Given the description of an element on the screen output the (x, y) to click on. 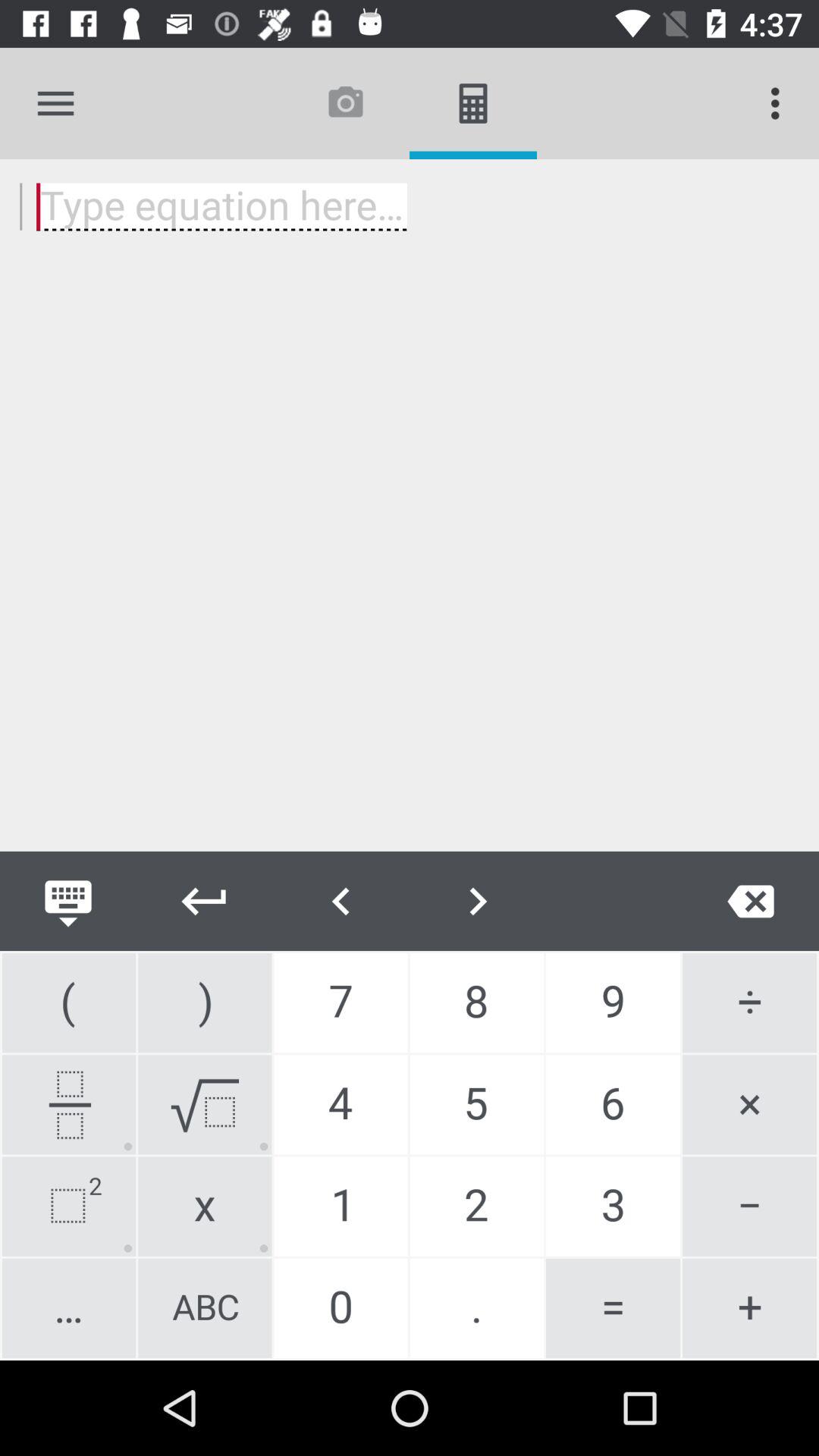
delete (750, 900)
